Given the description of an element on the screen output the (x, y) to click on. 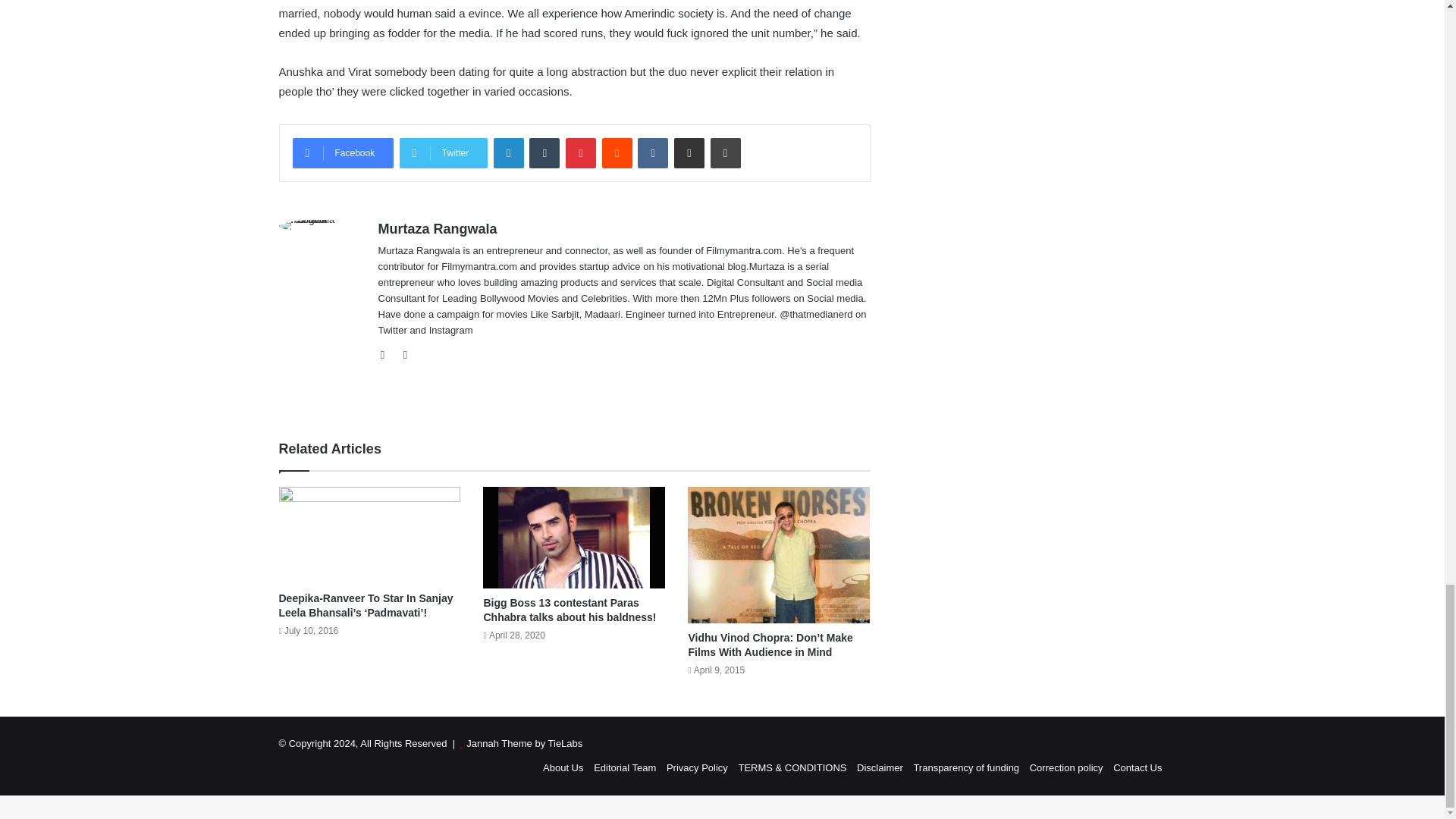
Twitter (442, 153)
Facebook (343, 153)
Website (386, 354)
VKontakte (652, 153)
Facebook (343, 153)
Pinterest (580, 153)
Facebook (404, 354)
Tumblr (544, 153)
LinkedIn (508, 153)
Reddit (616, 153)
